Given the description of an element on the screen output the (x, y) to click on. 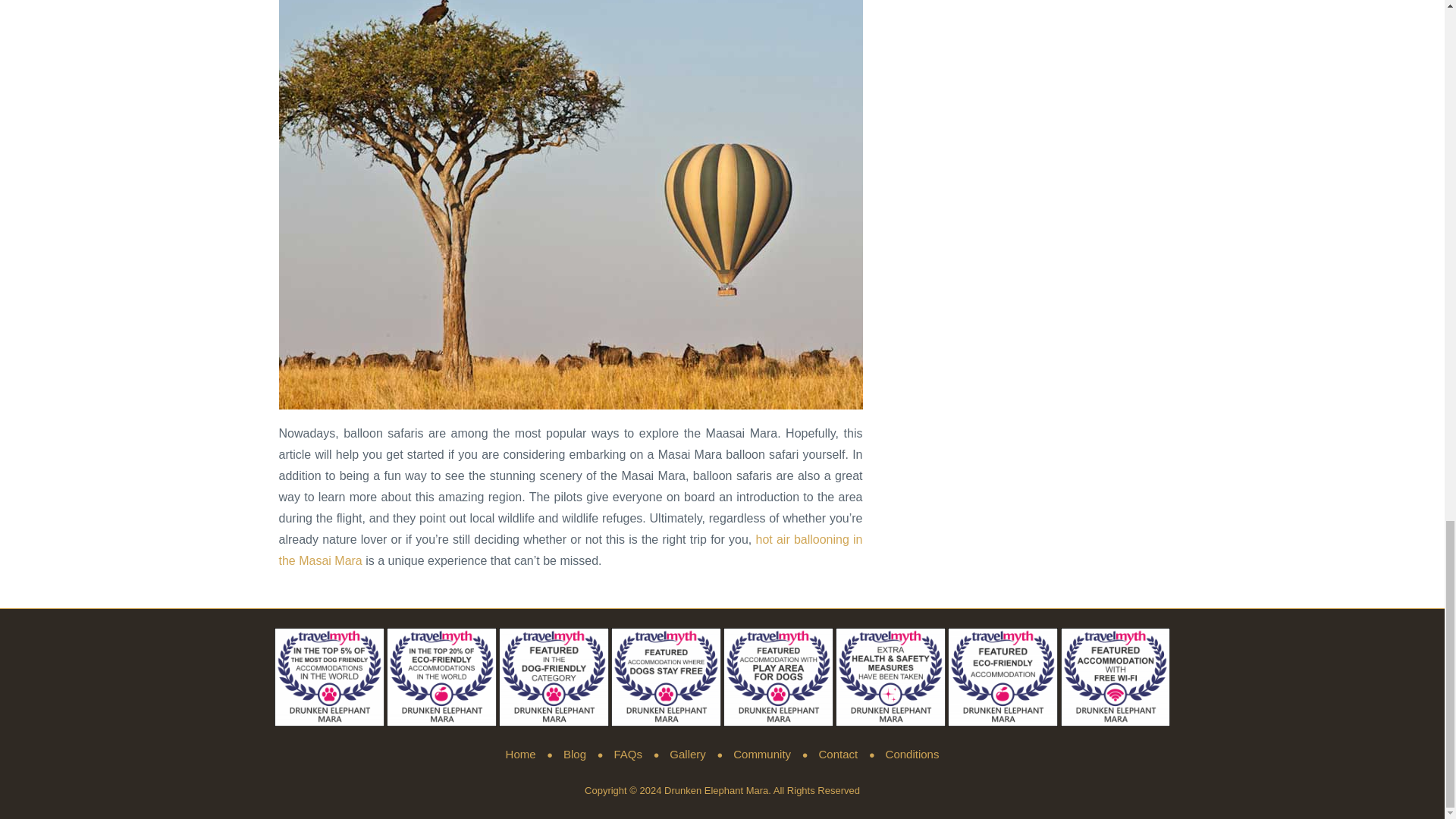
hot air ballooning in the Masai Mara (571, 550)
